Given the description of an element on the screen output the (x, y) to click on. 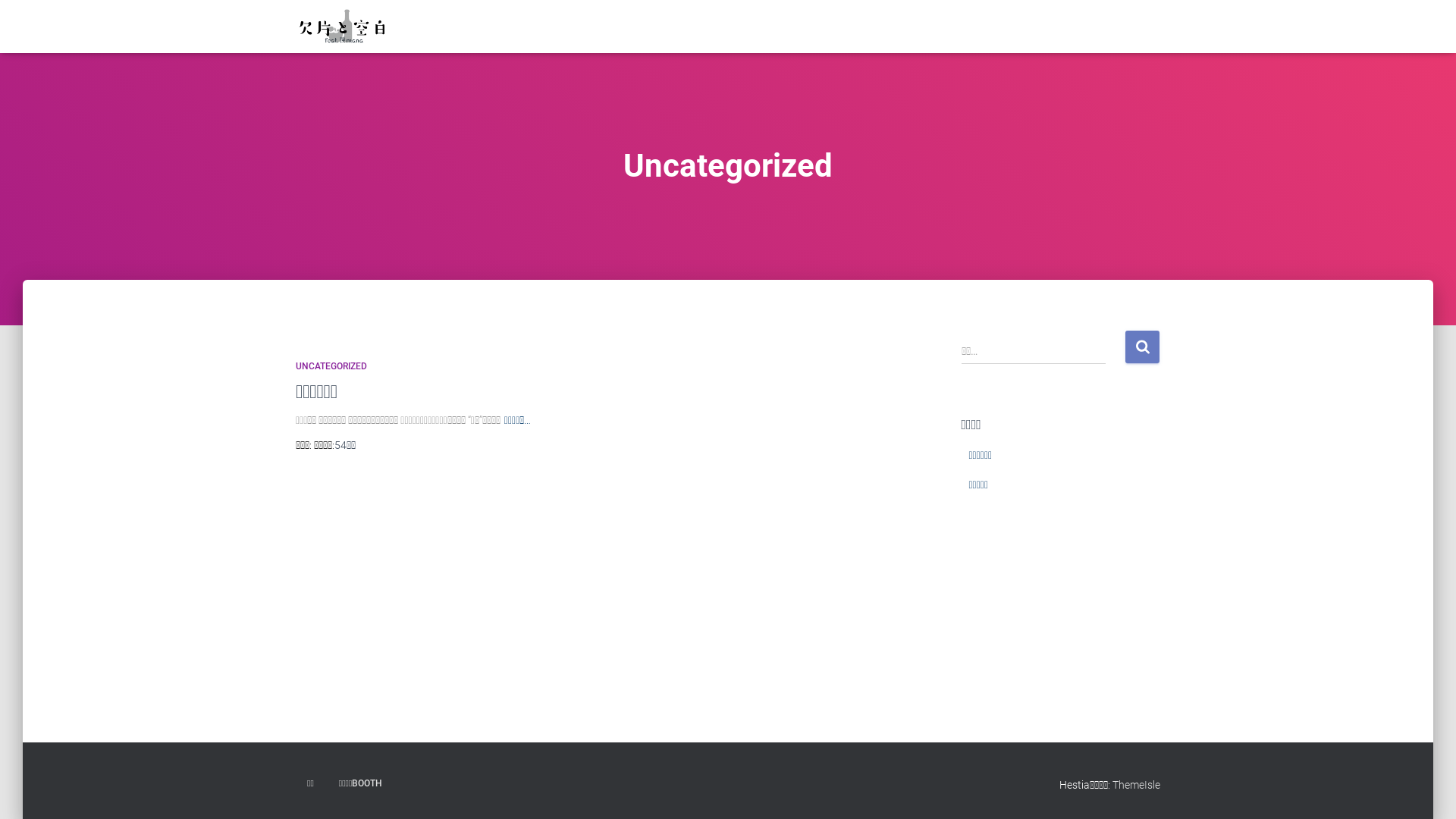
UNCATEGORIZED Element type: text (331, 365)
ThemeIsle Element type: text (1136, 784)
